Given the description of an element on the screen output the (x, y) to click on. 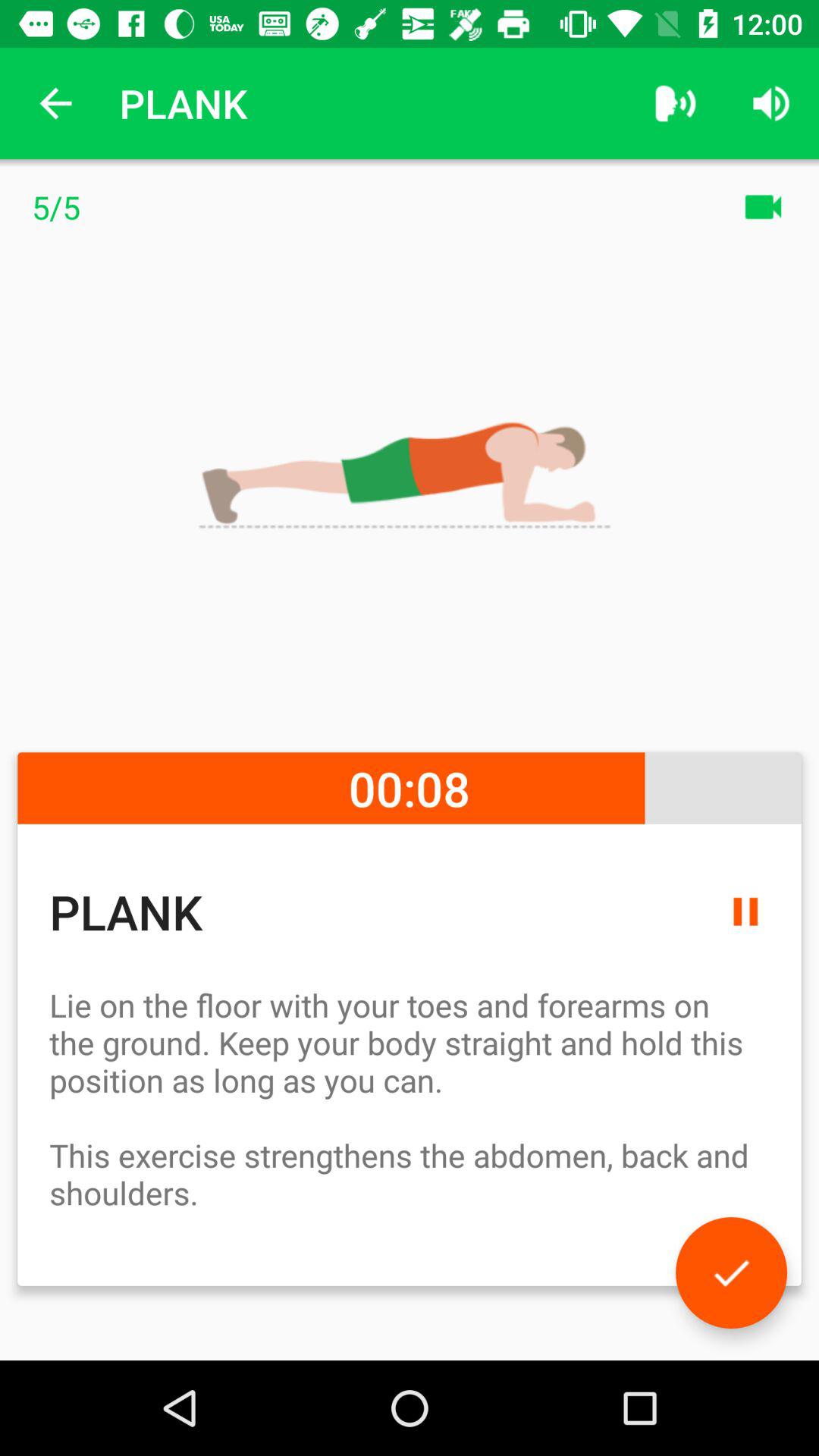
press the icon to the left of the plank icon (55, 103)
